Given the description of an element on the screen output the (x, y) to click on. 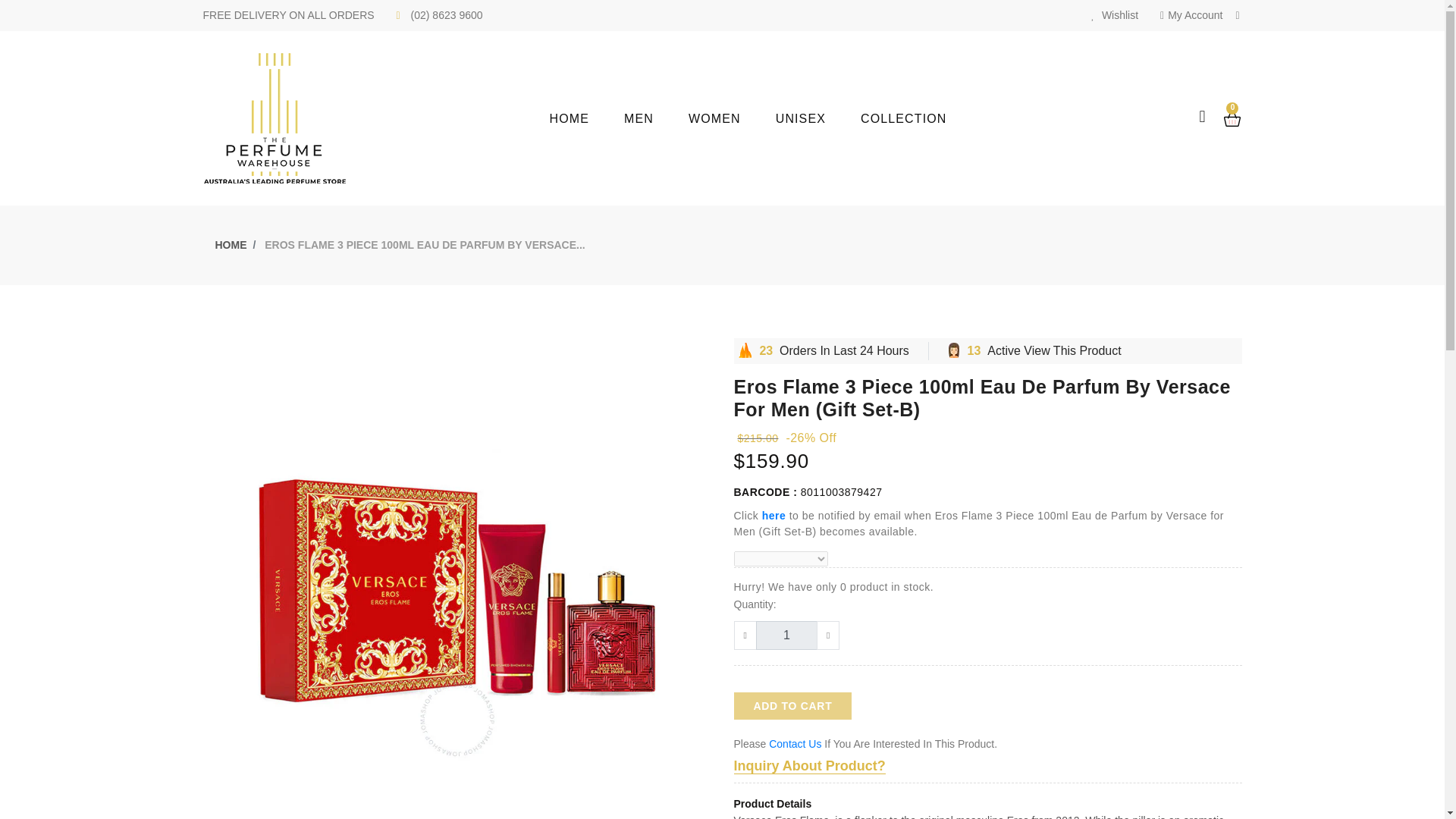
HOME (587, 117)
MEN (656, 117)
Wishlist (1114, 15)
1 (785, 635)
Inquiry About Product? (809, 765)
Contact Us (794, 743)
ADD TO CART (792, 705)
UNISEX (818, 117)
here (773, 515)
HOME (231, 244)
COLLECTION (920, 117)
WOMEN (732, 117)
